Given the description of an element on the screen output the (x, y) to click on. 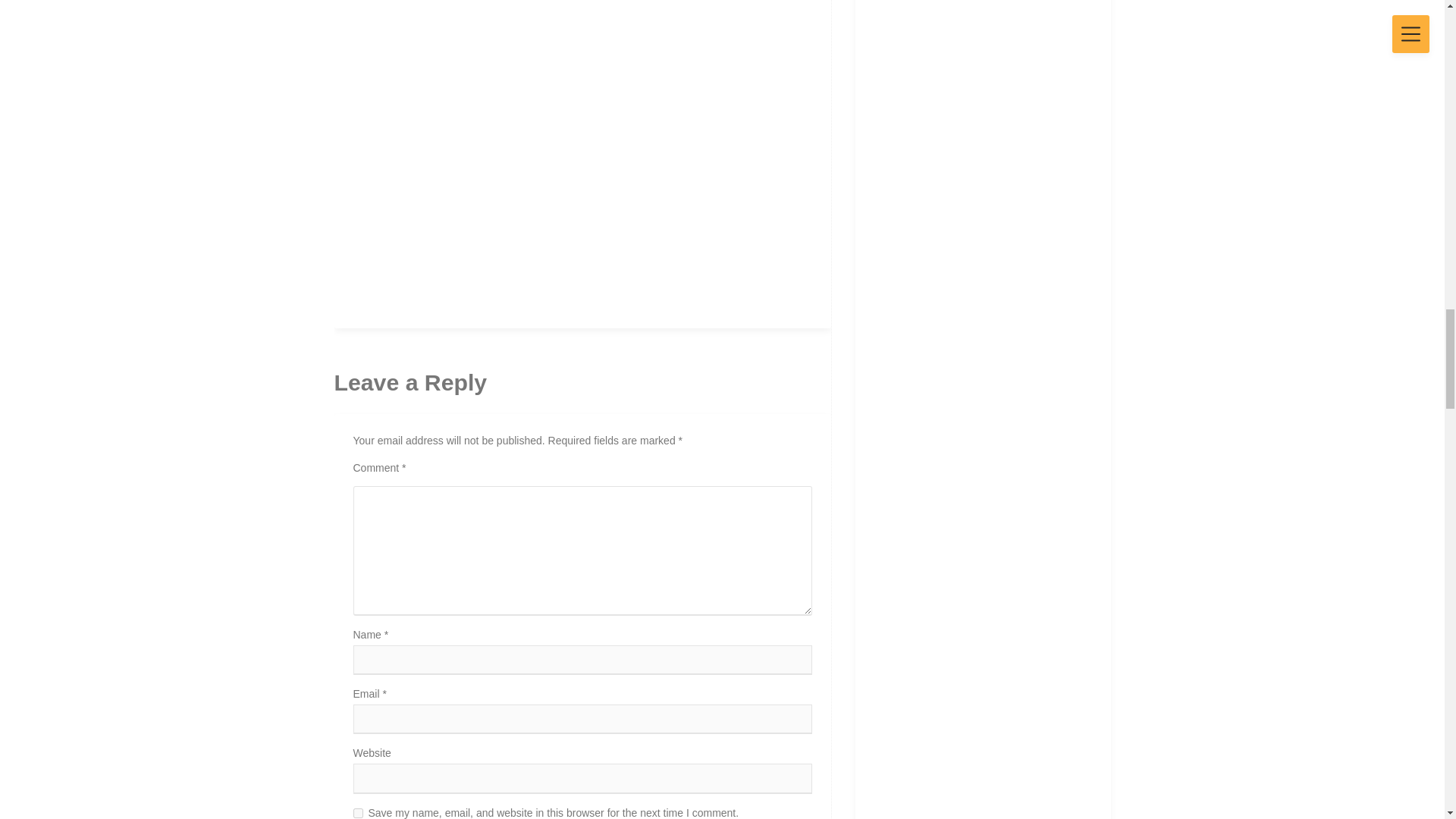
yes (357, 813)
